Given the description of an element on the screen output the (x, y) to click on. 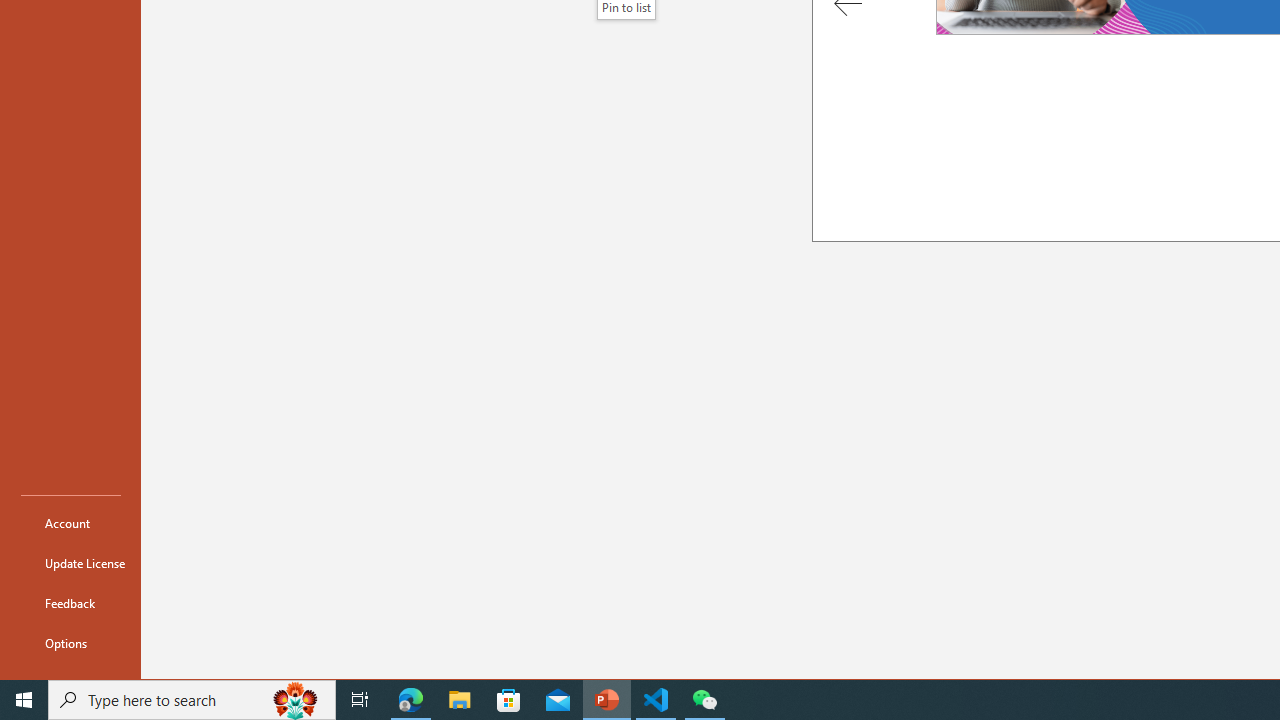
Update License (70, 562)
WeChat - 1 running window (704, 699)
Account (70, 522)
Options (70, 642)
Feedback (70, 602)
Microsoft Edge - 1 running window (411, 699)
